Given the description of an element on the screen output the (x, y) to click on. 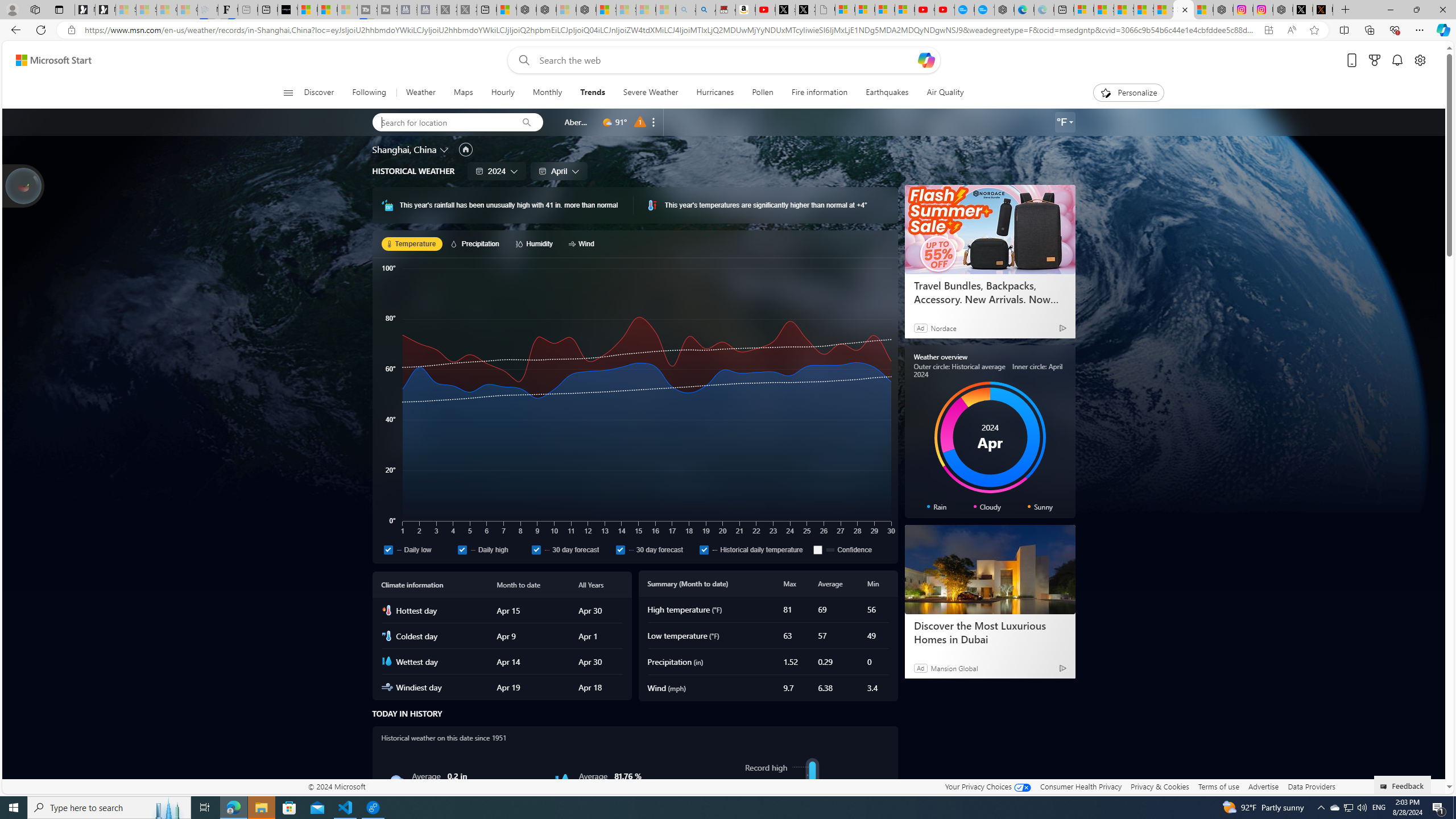
Data Providers (1311, 785)
Monthly (547, 92)
Precipitation (476, 243)
Advertise (1263, 786)
Daily high (462, 549)
Hurricanes (714, 92)
Nordace - Nordace Siena Is Not An Ordinary Backpack (586, 9)
Trends (592, 92)
Amazon Echo Dot PNG - Search Images (705, 9)
